Given the description of an element on the screen output the (x, y) to click on. 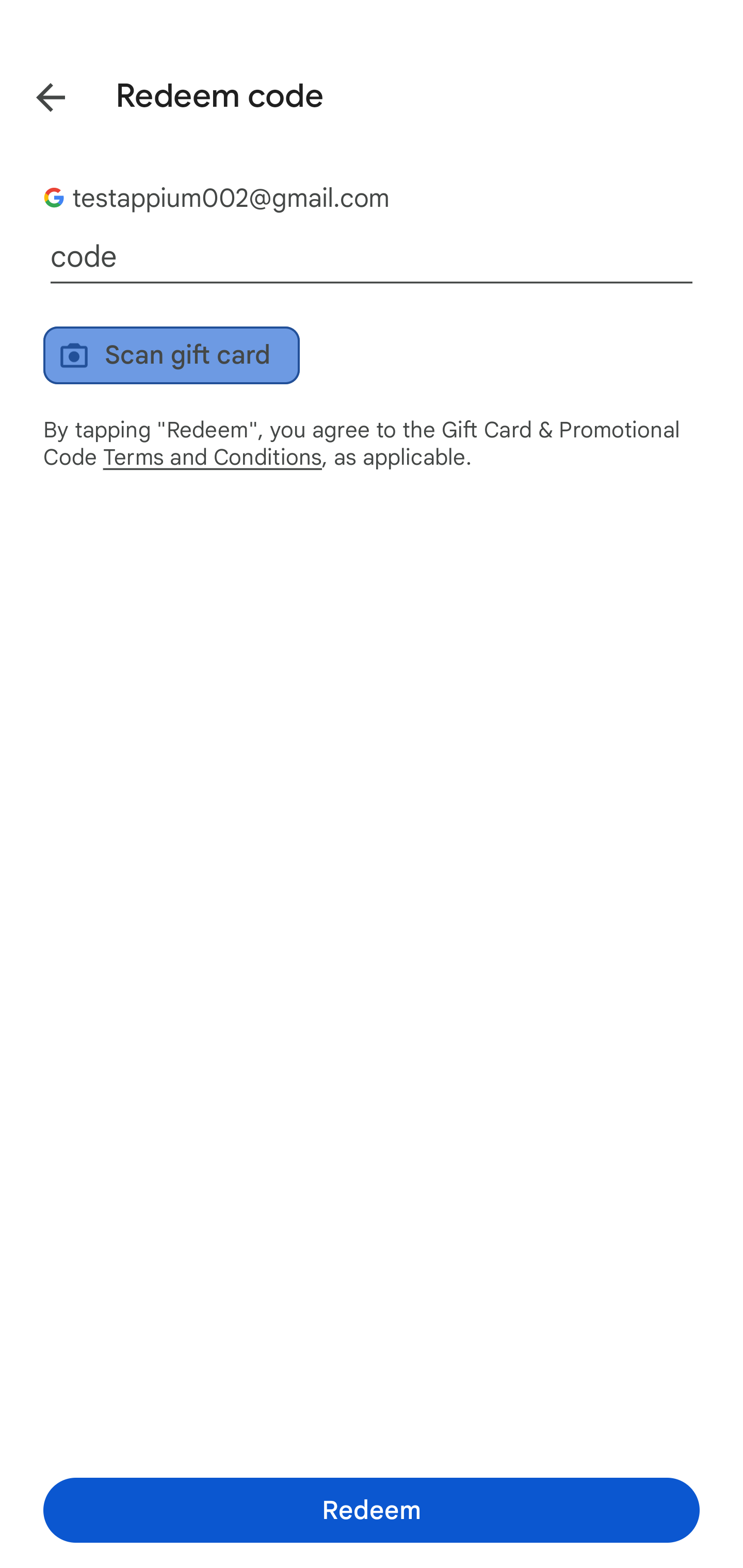
Back (36, 94)
code (371, 256)
Scan gift card (171, 355)
Redeem (371, 1509)
